Given the description of an element on the screen output the (x, y) to click on. 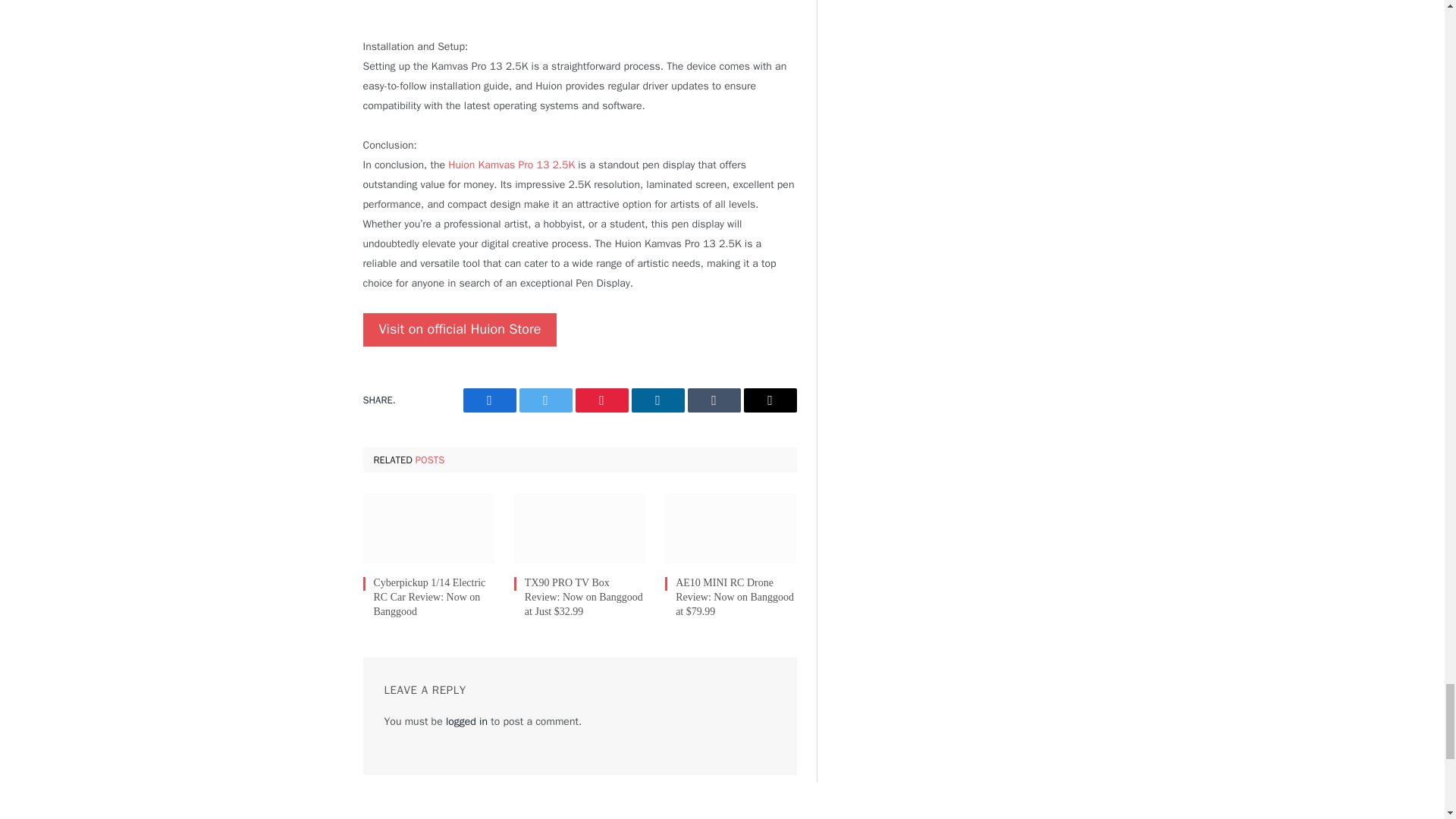
Share on Twitter (545, 400)
Share on Facebook (489, 400)
